Given the description of an element on the screen output the (x, y) to click on. 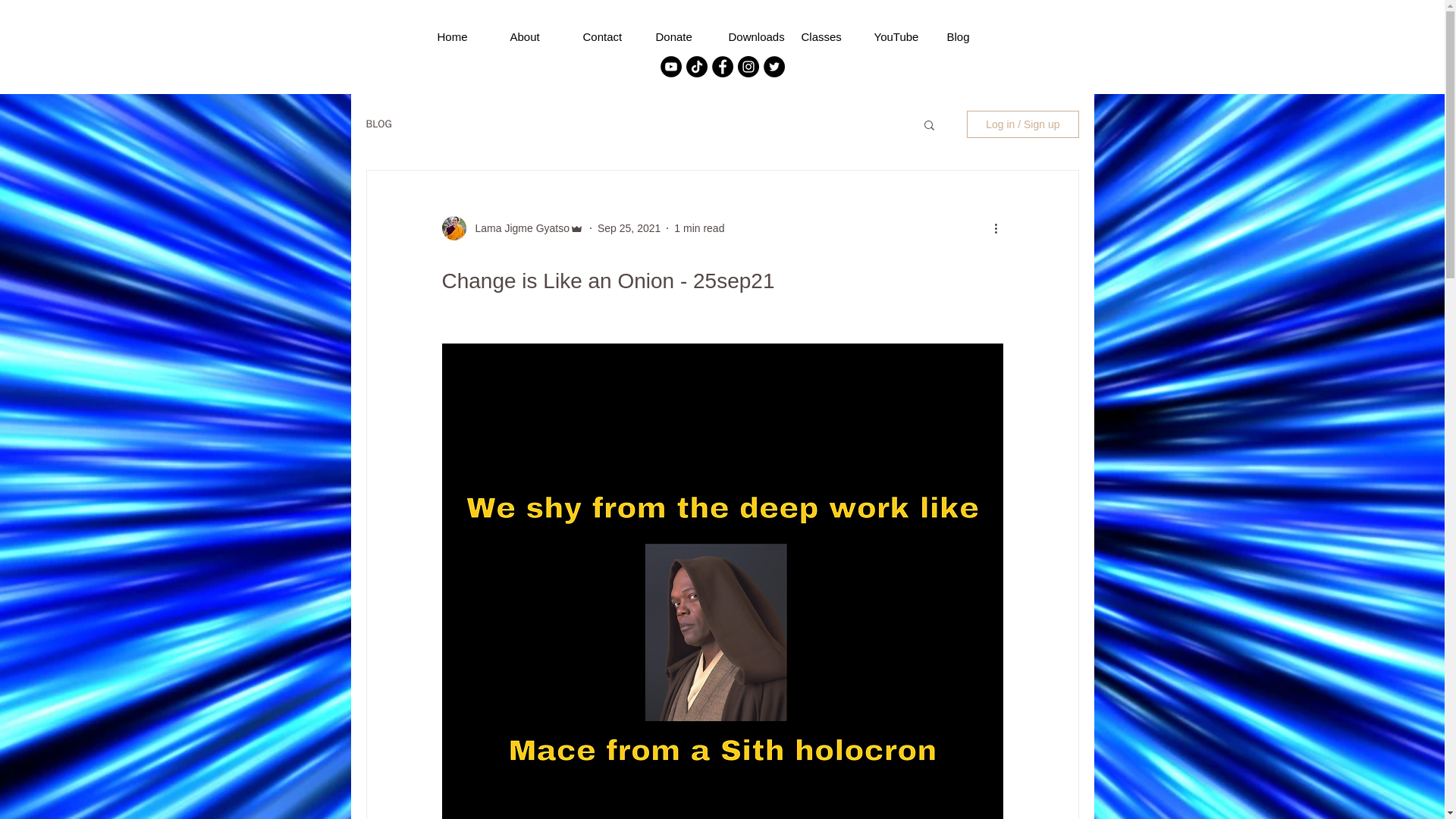
Sep 25, 2021 (628, 227)
Classes (829, 36)
About (538, 36)
YouTube (902, 36)
Downloads (756, 36)
Donate (683, 36)
Contact (611, 36)
Blog (974, 36)
Home (465, 36)
1 min read (698, 227)
Lama Jigme Gyatso (517, 227)
BLOG (378, 124)
